Given the description of an element on the screen output the (x, y) to click on. 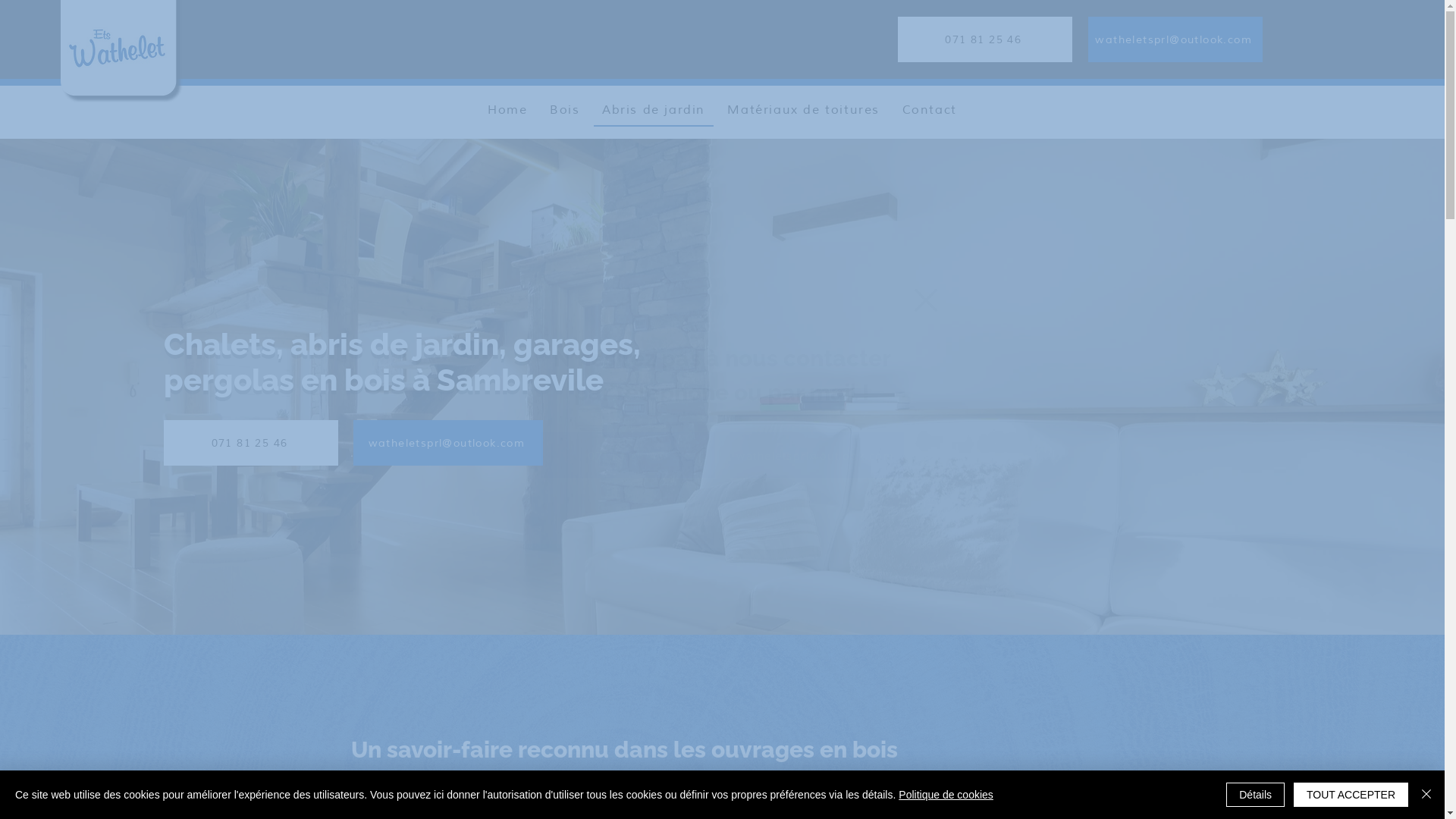
Contact Element type: text (929, 110)
Abris de jardin Element type: text (652, 110)
071 81 25 46 Element type: text (250, 442)
Politique de cookies Element type: text (945, 794)
watheletsprl@outlook.com Element type: text (447, 442)
Retour au site Element type: hover (925, 299)
071 81 25 46 Element type: text (984, 39)
Bois Element type: text (564, 110)
watheletsprl@outlook.com Element type: text (1175, 39)
TOUT ACCEPTER Element type: text (1350, 794)
Home Element type: text (507, 110)
